Given the description of an element on the screen output the (x, y) to click on. 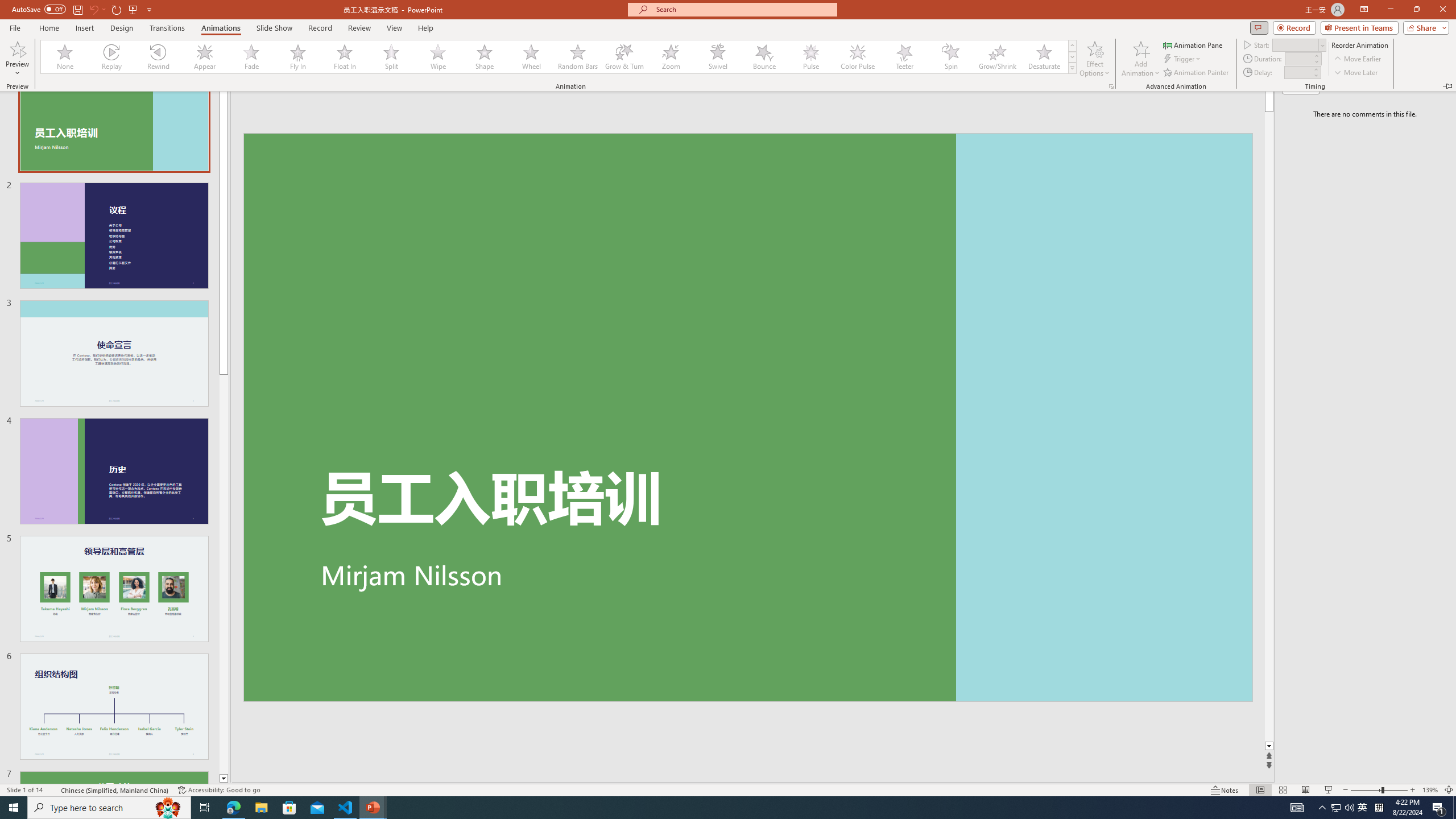
User Promoted Notification Area (1335, 807)
File Explorer (1342, 807)
Microsoft Edge - 1 running window (261, 807)
Type here to search (1362, 807)
Running applications (233, 807)
